Given the description of an element on the screen output the (x, y) to click on. 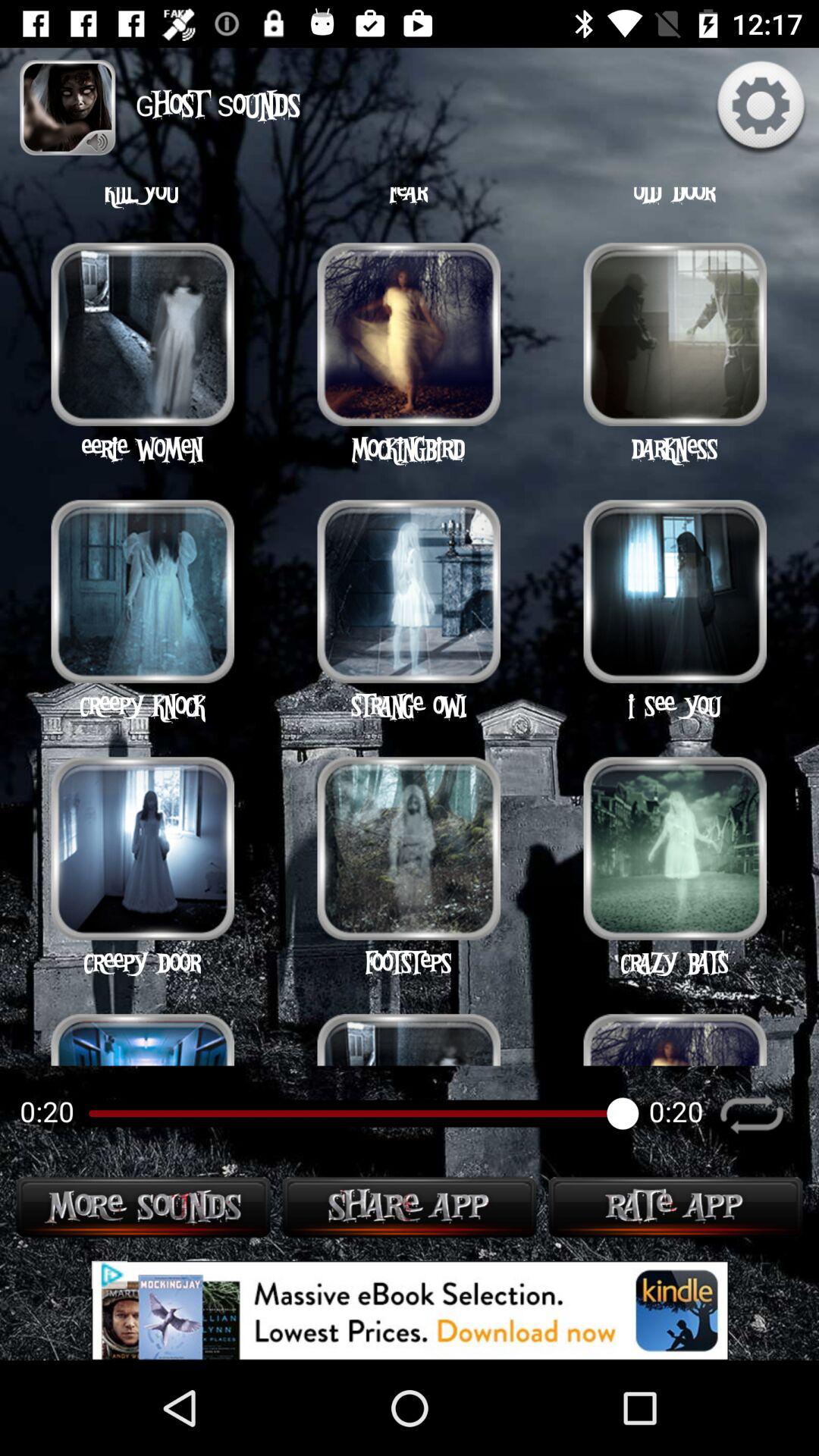
advertisement link (409, 1310)
